Given the description of an element on the screen output the (x, y) to click on. 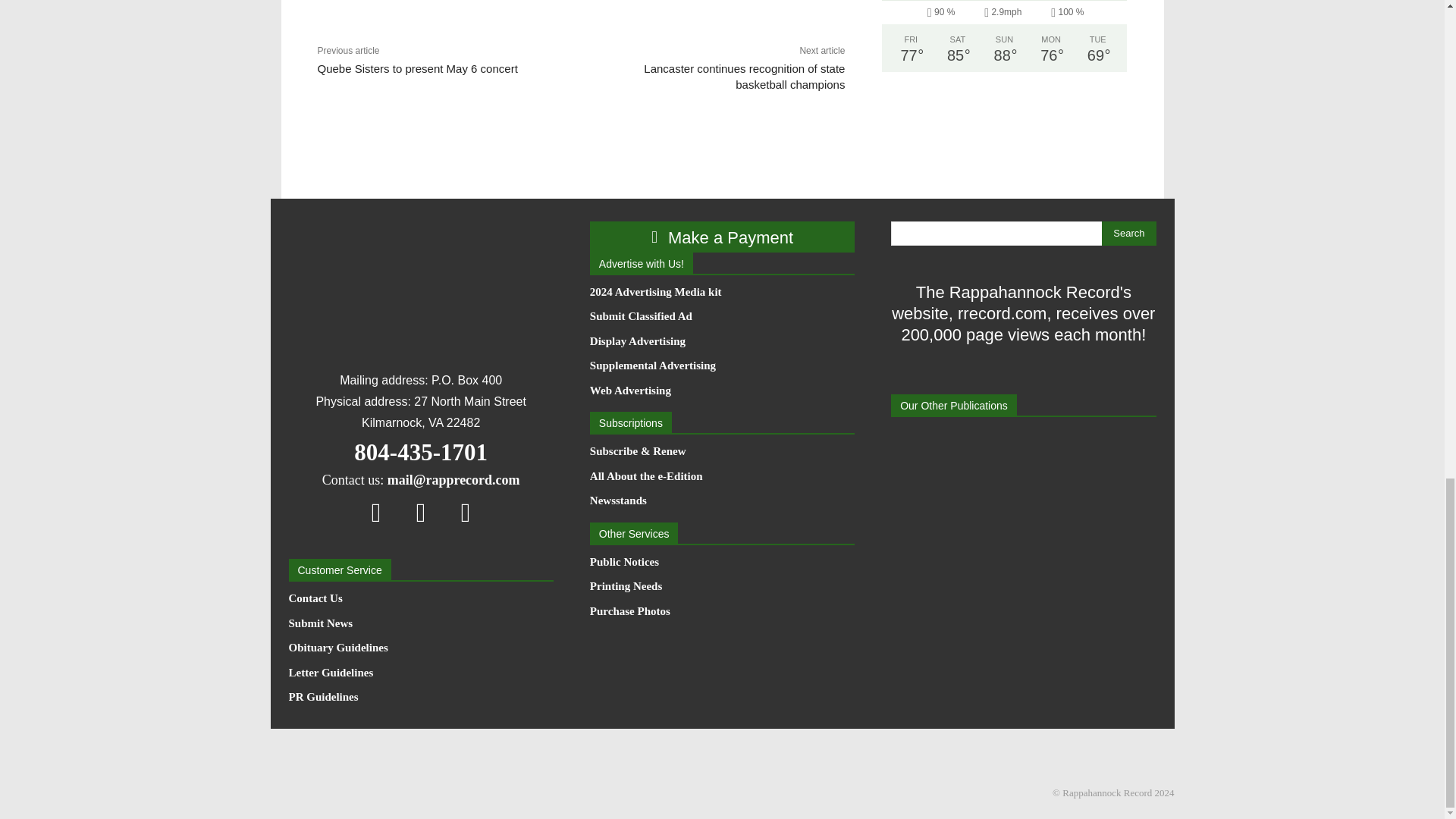
Facebook (376, 511)
Twitter (465, 511)
Make a Payment (721, 236)
Contact Us (420, 598)
Quebe Sisters to present May 6 concert (416, 68)
Obituary Guidelines (420, 648)
Letter Guidelines (420, 672)
Instagram (421, 511)
Submit News (420, 623)
